Given the description of an element on the screen output the (x, y) to click on. 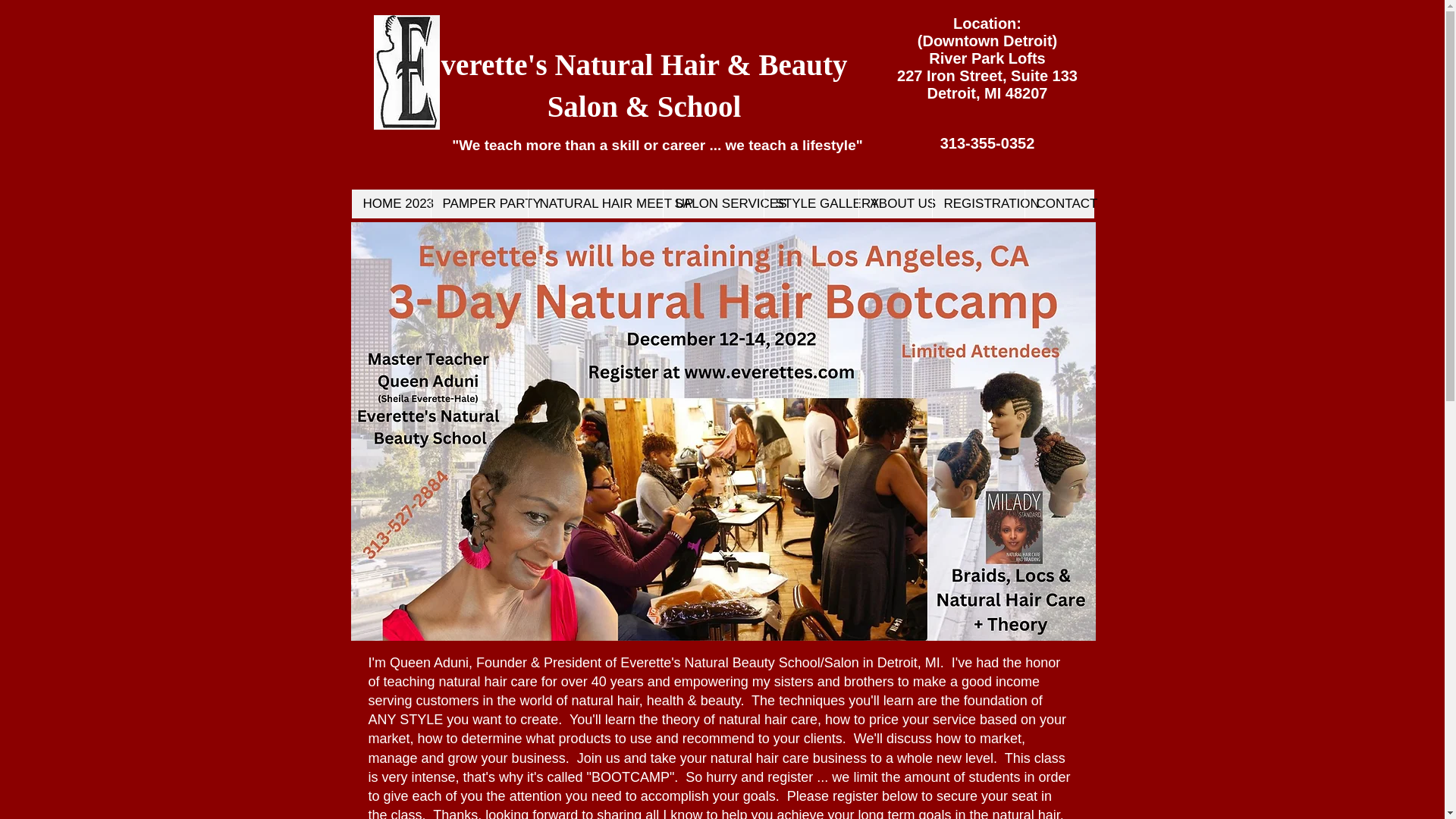
SALON SERVICES (712, 203)
HOME 2023 (391, 203)
STYLE GALLERY (809, 203)
REGISTRATION (977, 203)
PAMPER PARTY (478, 203)
CONTACT (1058, 203)
NATURAL HAIR MEET UP (594, 203)
ABOUT US (895, 203)
